Given the description of an element on the screen output the (x, y) to click on. 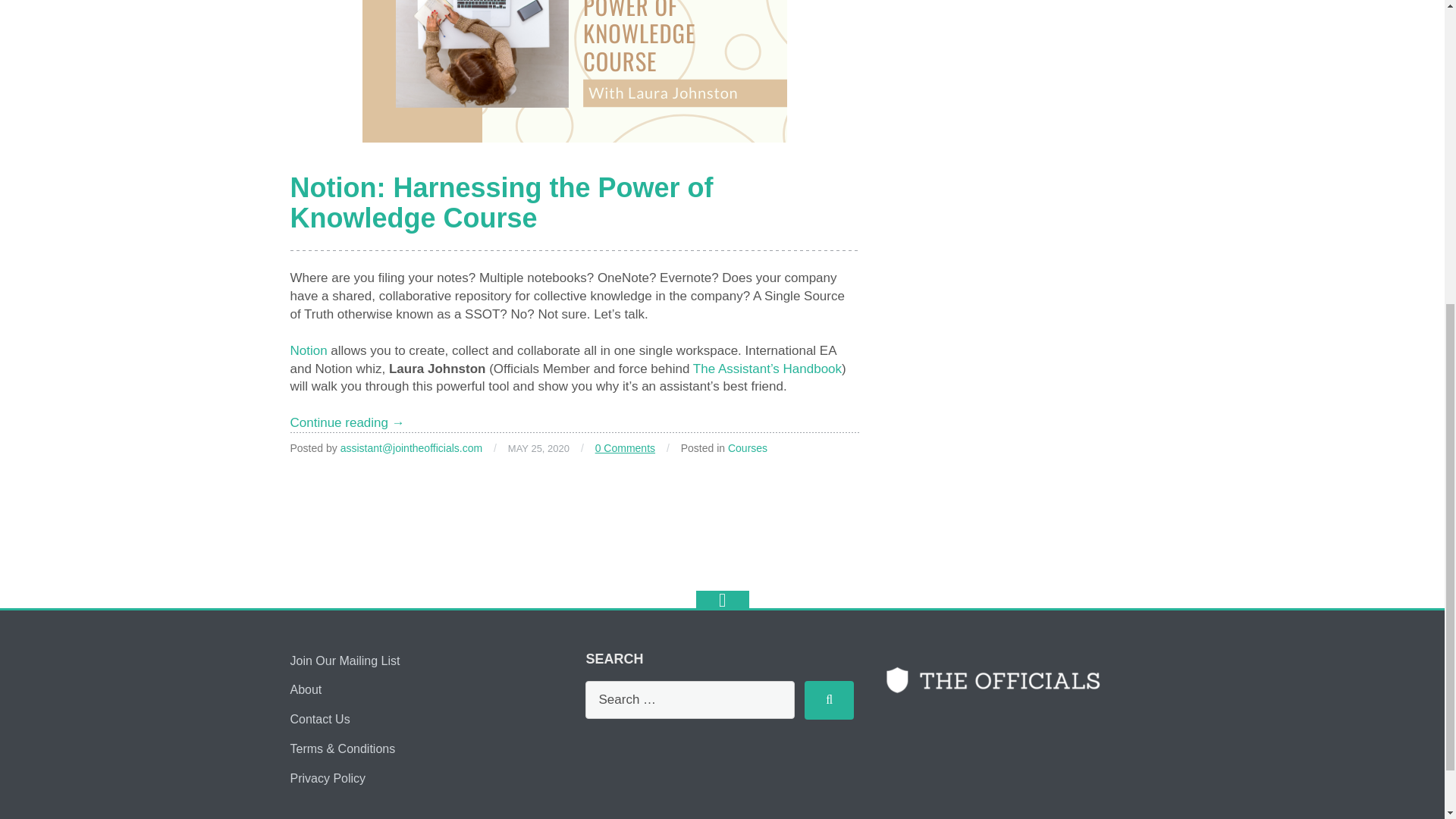
Notion (307, 350)
Notion: Harnessing the Power of Knowledge Course (501, 202)
Courses (747, 448)
Search for: (689, 699)
0 Comments (625, 448)
